Given the description of an element on the screen output the (x, y) to click on. 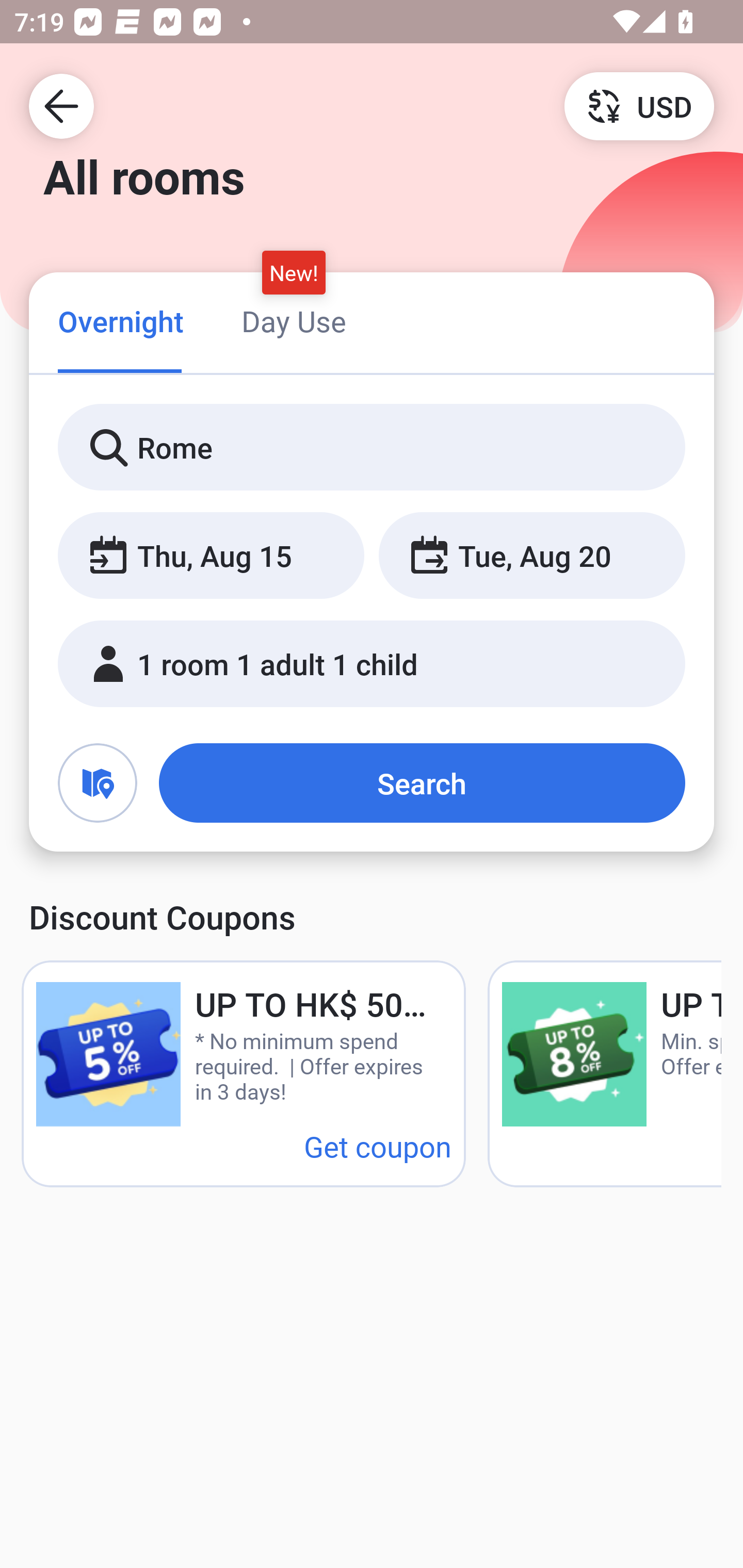
USD (639, 105)
New! (294, 272)
Day Use (293, 321)
Rome (371, 447)
Thu, Aug 15 (210, 555)
Tue, Aug 20 (531, 555)
1 room 1 adult 1 child (371, 663)
Search (422, 783)
Get coupon (377, 1146)
